Given the description of an element on the screen output the (x, y) to click on. 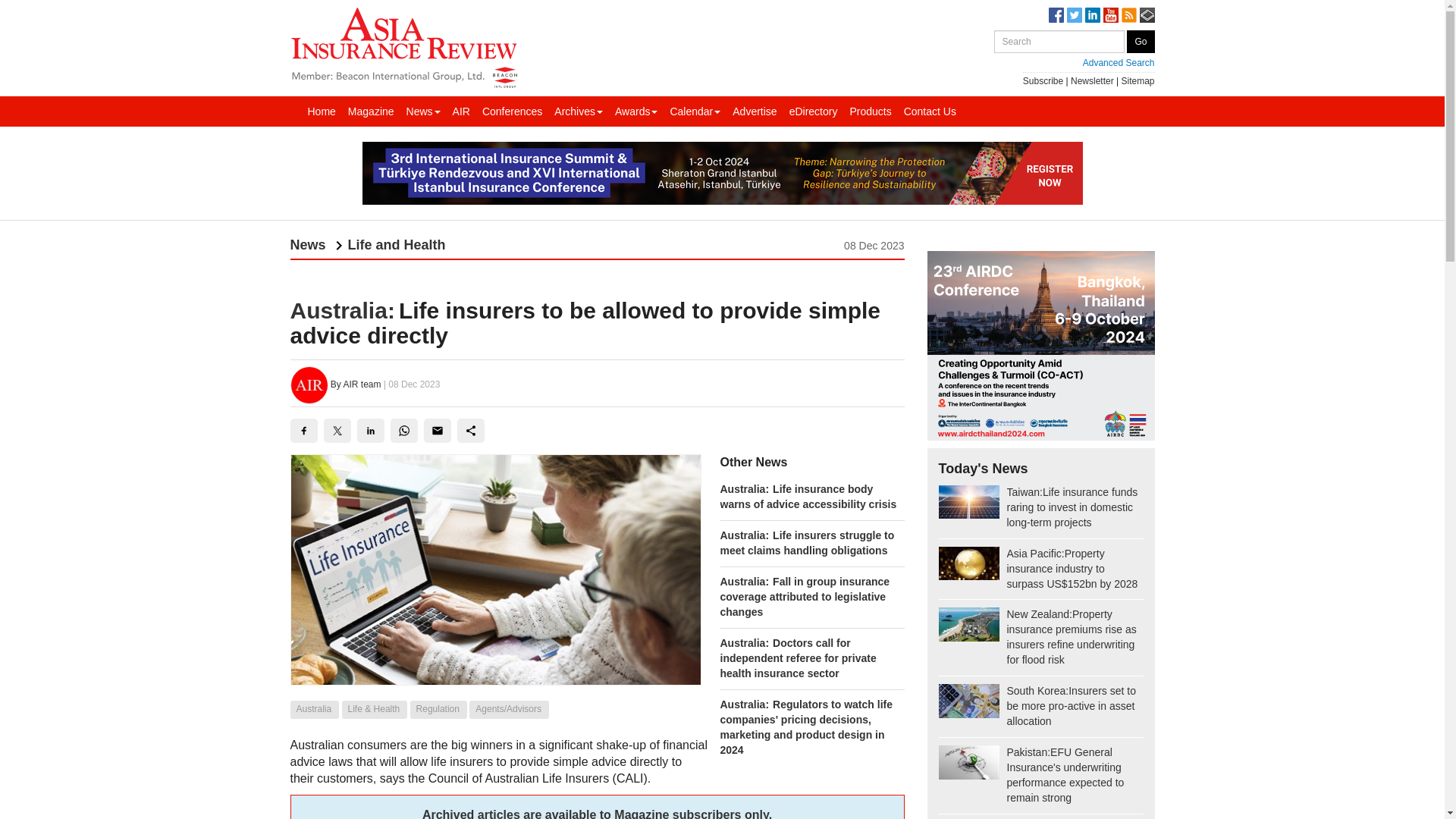
Subscribe (1042, 81)
AIR (461, 111)
Archives (578, 111)
Go (1140, 41)
Go (1140, 41)
Advanced Search (1074, 62)
Newsletter (1091, 81)
Sitemap (1137, 81)
Magazine (371, 111)
Asia Insurance Review (402, 45)
News (423, 111)
Home (321, 111)
Conferences (512, 111)
Awards (635, 111)
